Given the description of an element on the screen output the (x, y) to click on. 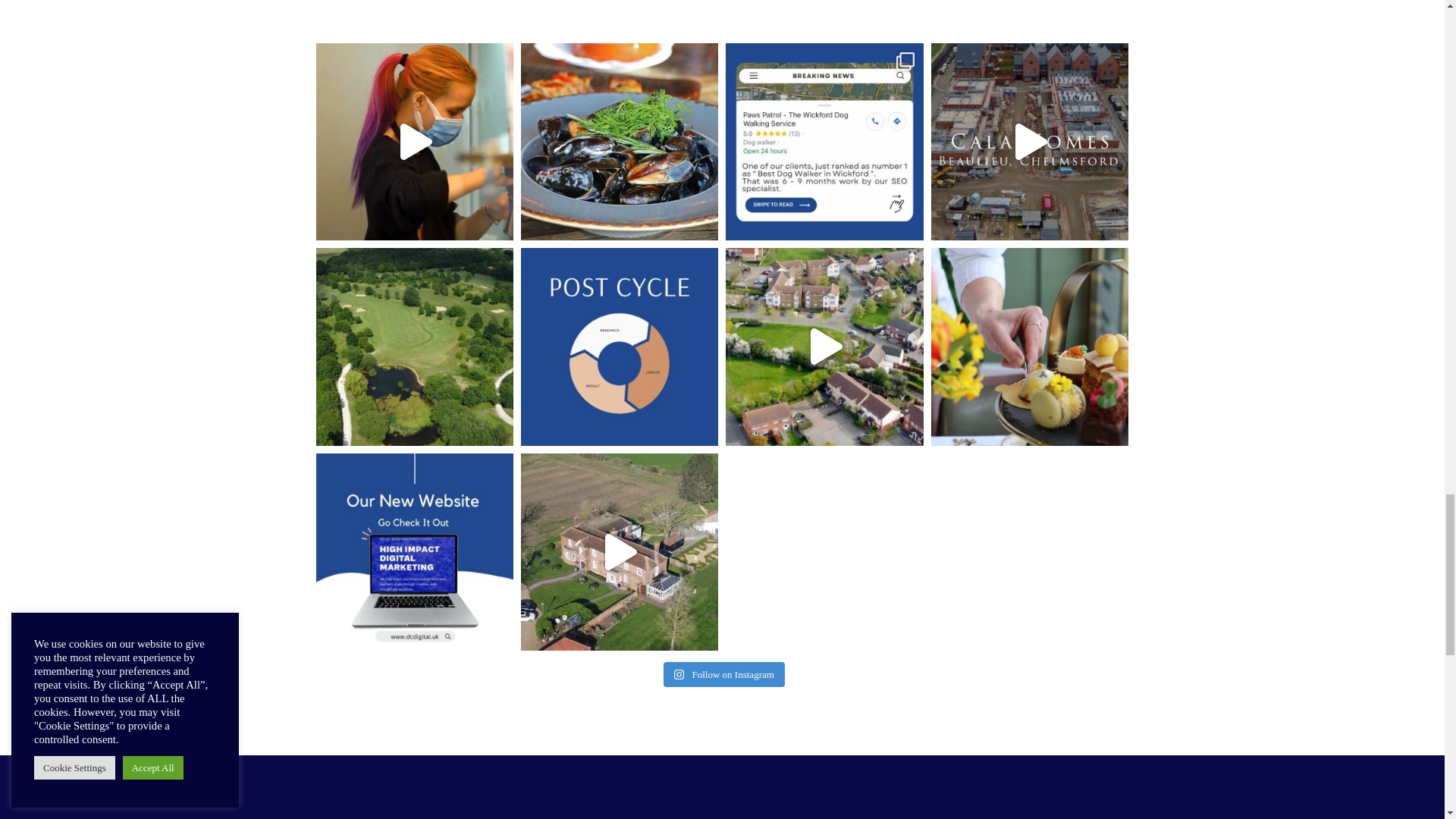
Follow on Instagram (723, 674)
